Given the description of an element on the screen output the (x, y) to click on. 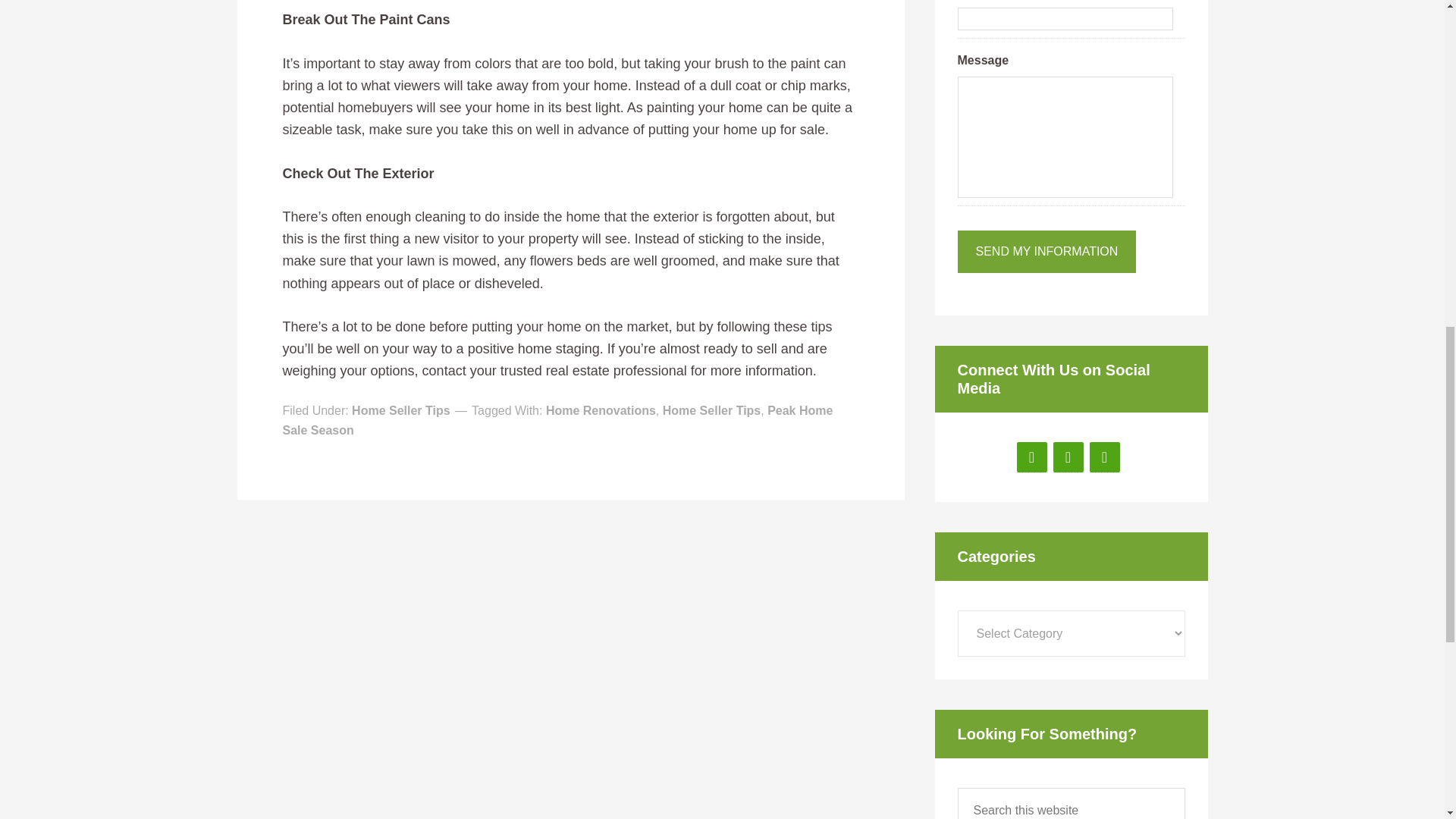
Home Renovations (601, 410)
Peak Home Sale Season (557, 420)
Home Seller Tips (400, 410)
Send My Information (1045, 251)
Send My Information (1045, 251)
Home Seller Tips (711, 410)
